Given the description of an element on the screen output the (x, y) to click on. 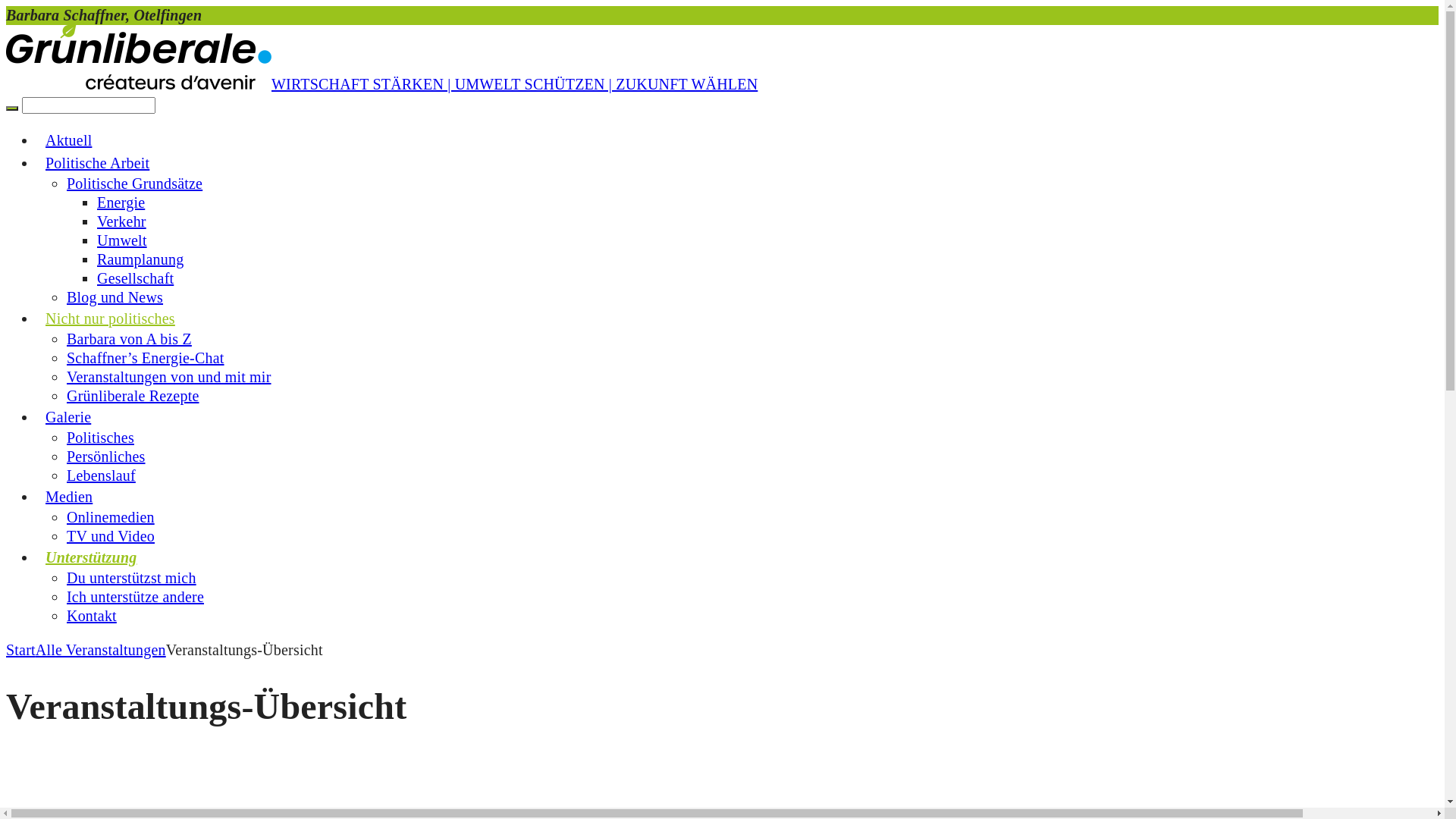
TV und Video Element type: text (110, 535)
Barbara von A bis Z Element type: text (128, 338)
Veranstaltungen von und mit mir Element type: text (168, 376)
Umwelt Element type: text (122, 240)
Raumplanung Element type: text (140, 259)
Start Element type: text (20, 649)
Energie Element type: text (120, 202)
Blog und News Element type: text (114, 296)
Lebenslauf Element type: text (100, 475)
Aktuell Element type: text (68, 121)
Medien Element type: text (68, 477)
Alle Veranstaltungen Element type: text (100, 649)
Nicht nur politisches Element type: text (110, 299)
Kontakt Element type: text (91, 615)
Politische Arbeit Element type: text (97, 143)
Politisches Element type: text (100, 437)
Start search Element type: hover (12, 108)
Onlinemedien Element type: text (110, 516)
Verkehr Element type: text (121, 221)
Gesellschaft Element type: text (135, 277)
Galerie Element type: text (68, 397)
Open/close search form Element type: hover (722, 103)
